Given the description of an element on the screen output the (x, y) to click on. 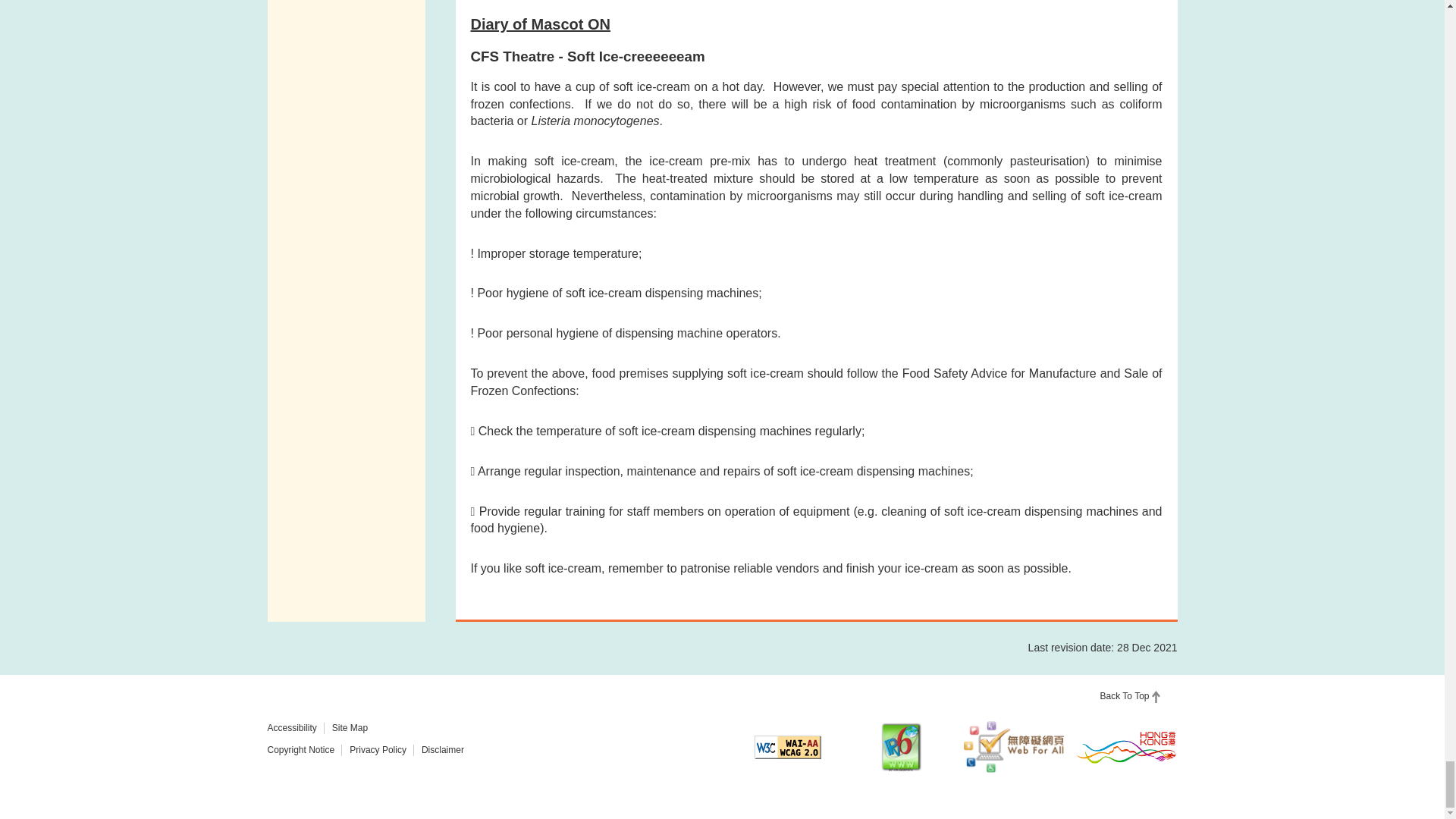
Explanation of WCAG 2.0 Level Double-A Conformance (787, 747)
This website is IPv6 enabled (901, 747)
